Given the description of an element on the screen output the (x, y) to click on. 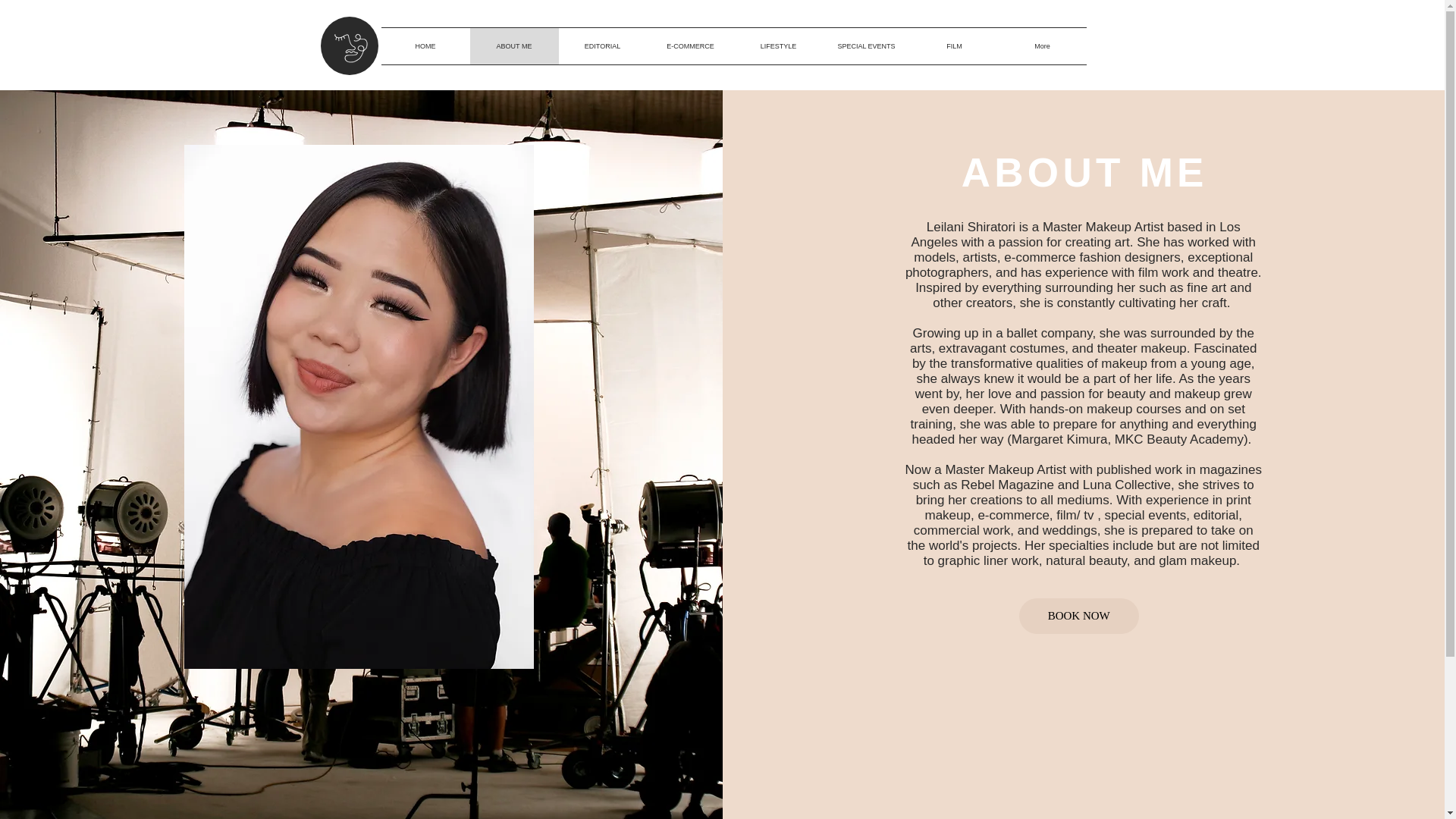
LIFESTYLE (777, 45)
BOOK NOW (1078, 615)
FILM (953, 45)
E-COMMERCE (689, 45)
ABOUT ME (514, 45)
SPECIAL EVENTS (866, 45)
EDITORIAL (601, 45)
HOME (424, 45)
